Given the description of an element on the screen output the (x, y) to click on. 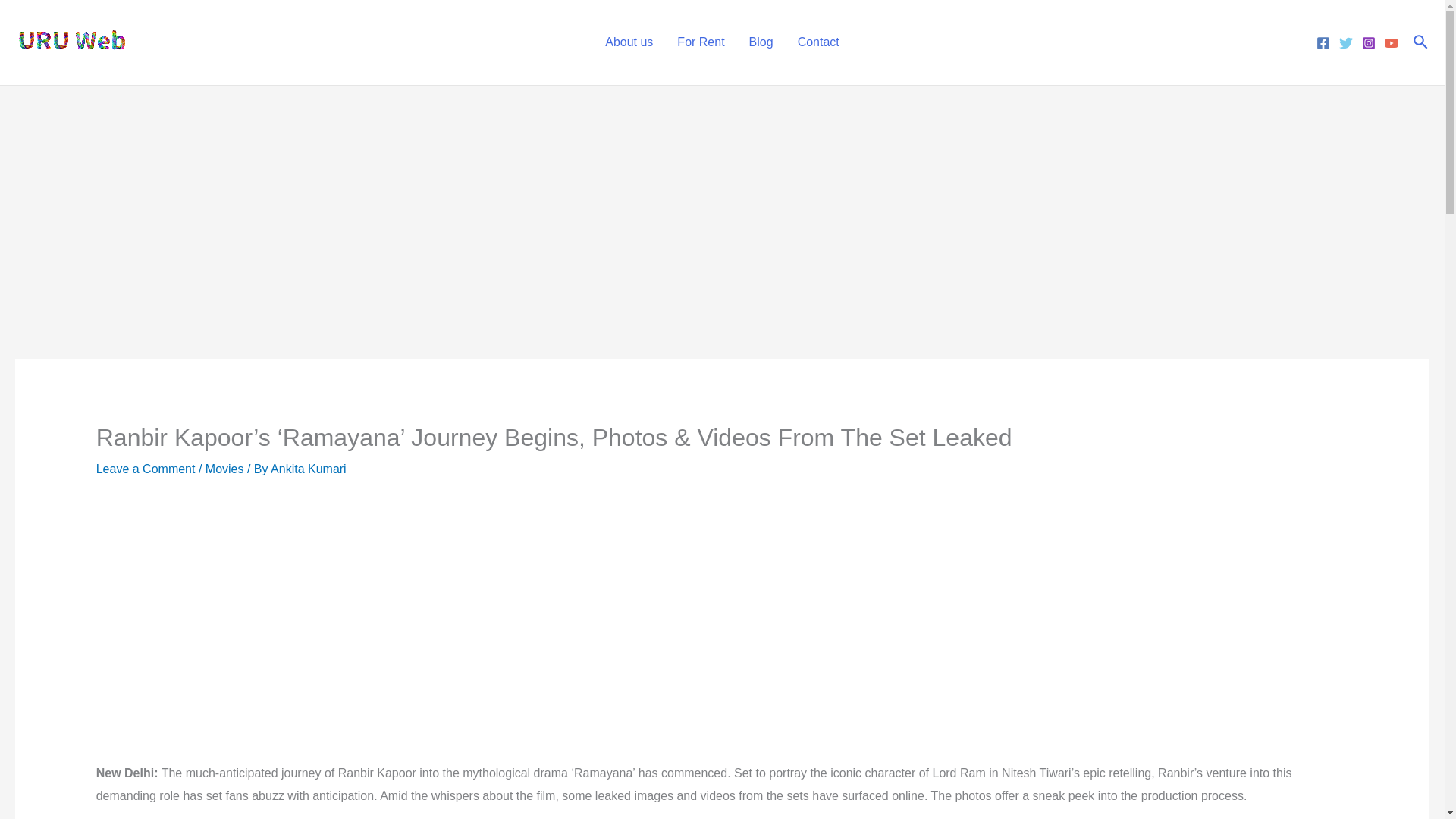
For Rent (700, 42)
View all posts by Ankita Kumari (308, 468)
About us (628, 42)
Contact (818, 42)
